Given the description of an element on the screen output the (x, y) to click on. 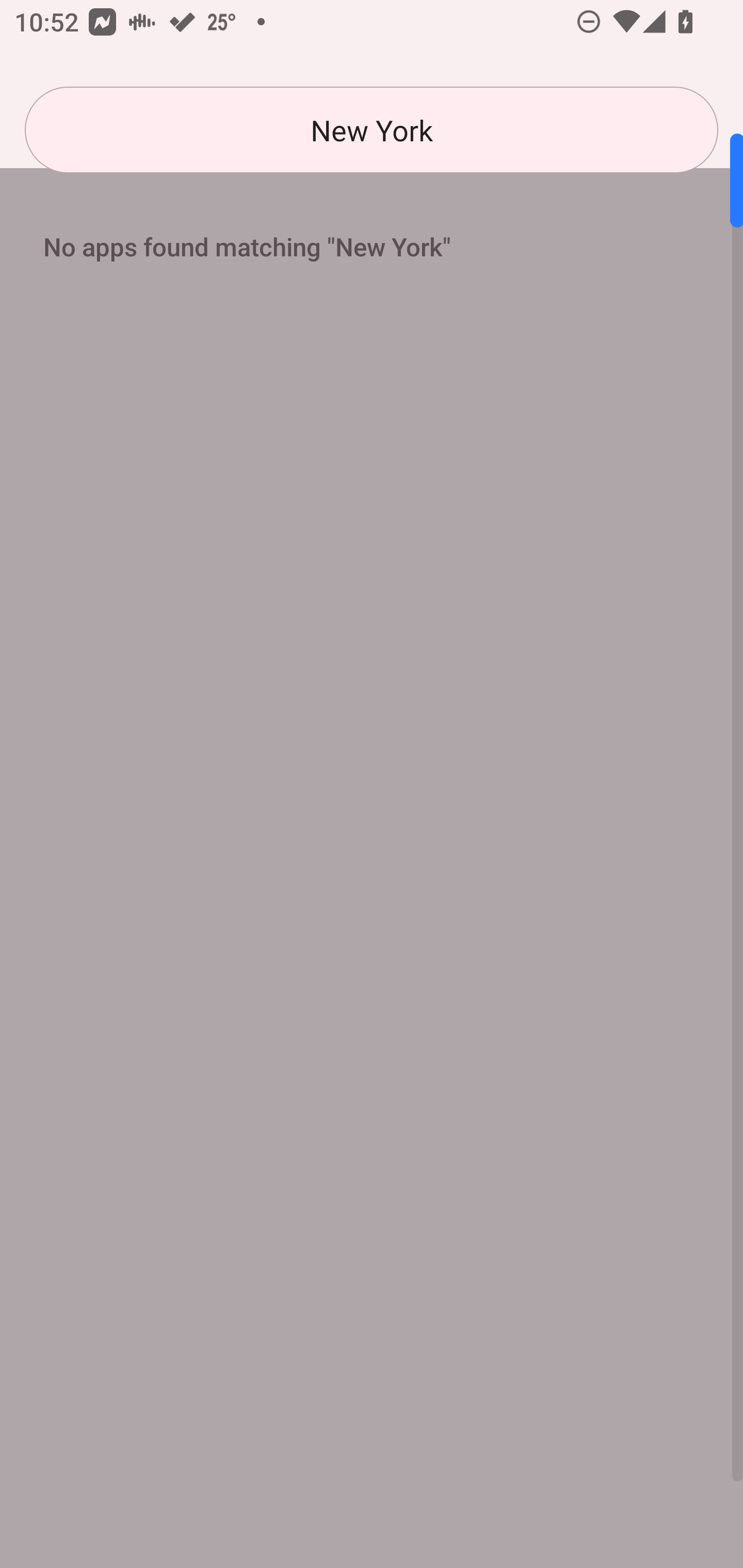
New York (371, 130)
